Given the description of an element on the screen output the (x, y) to click on. 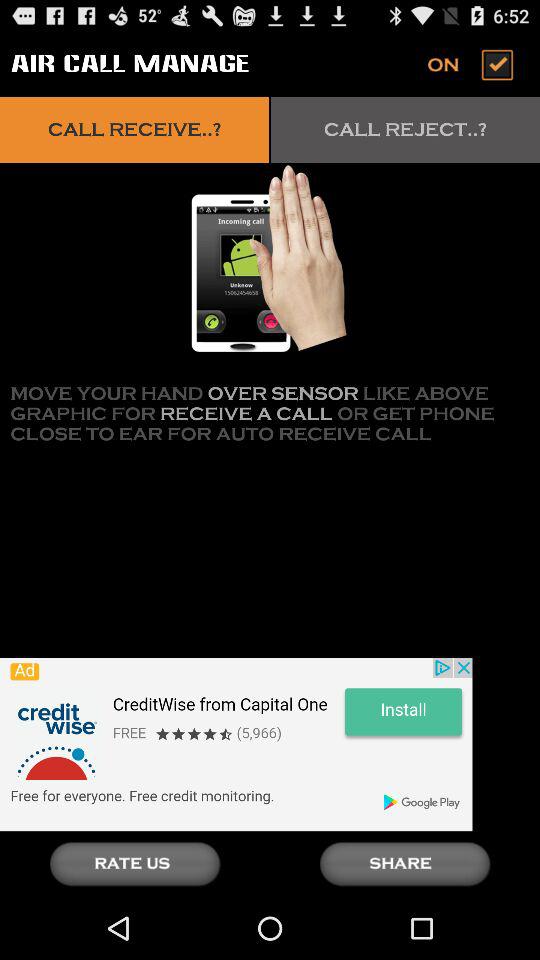
turn off air calling (472, 64)
